Given the description of an element on the screen output the (x, y) to click on. 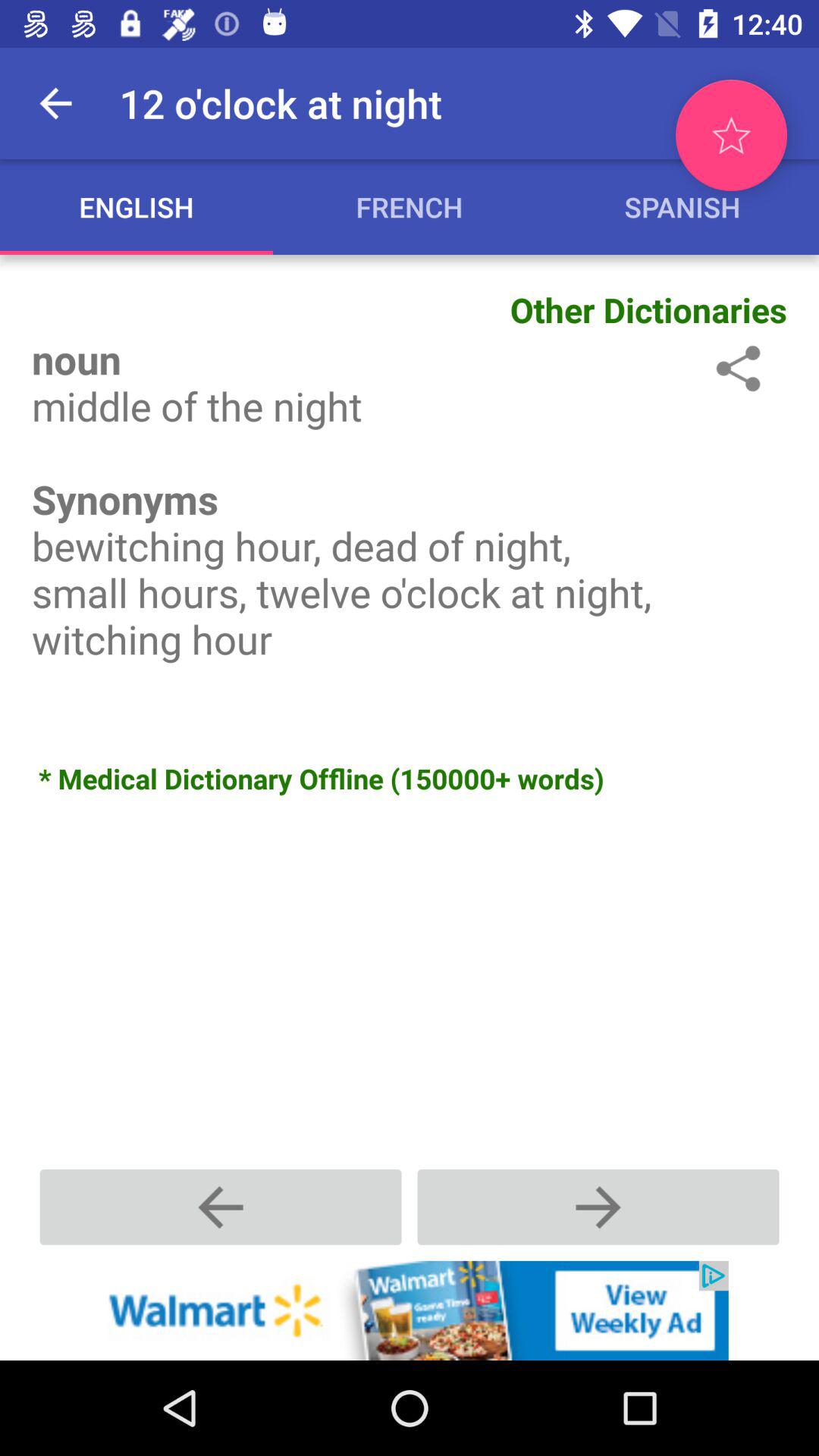
click the add (409, 1310)
